Given the description of an element on the screen output the (x, y) to click on. 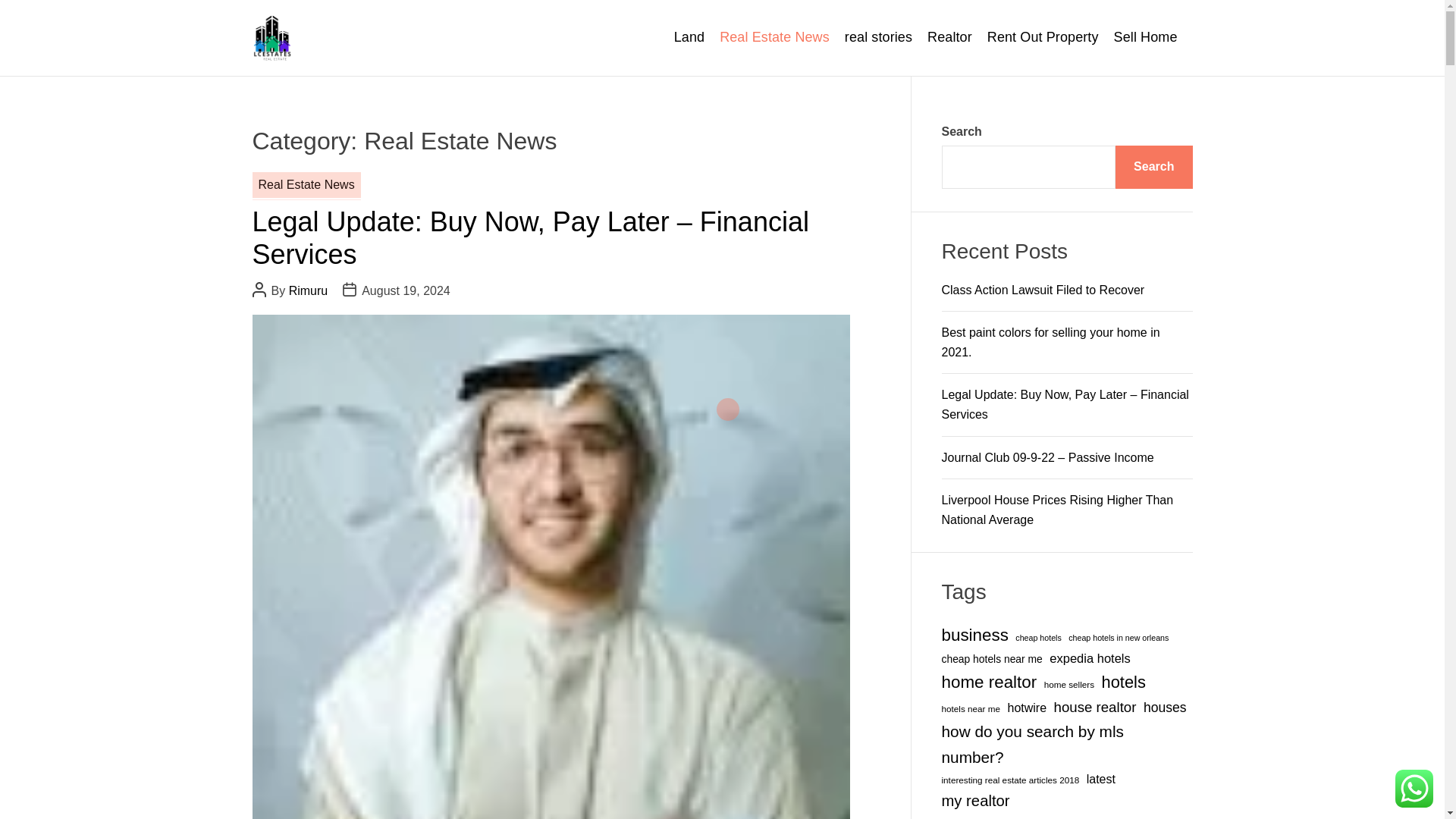
Rimuru (308, 290)
Real Estate News (305, 184)
Sell Home (1145, 38)
Rent Out Property (1043, 38)
Real Estate News (774, 38)
Land (689, 38)
Realtor (949, 38)
real stories (878, 38)
